Given the description of an element on the screen output the (x, y) to click on. 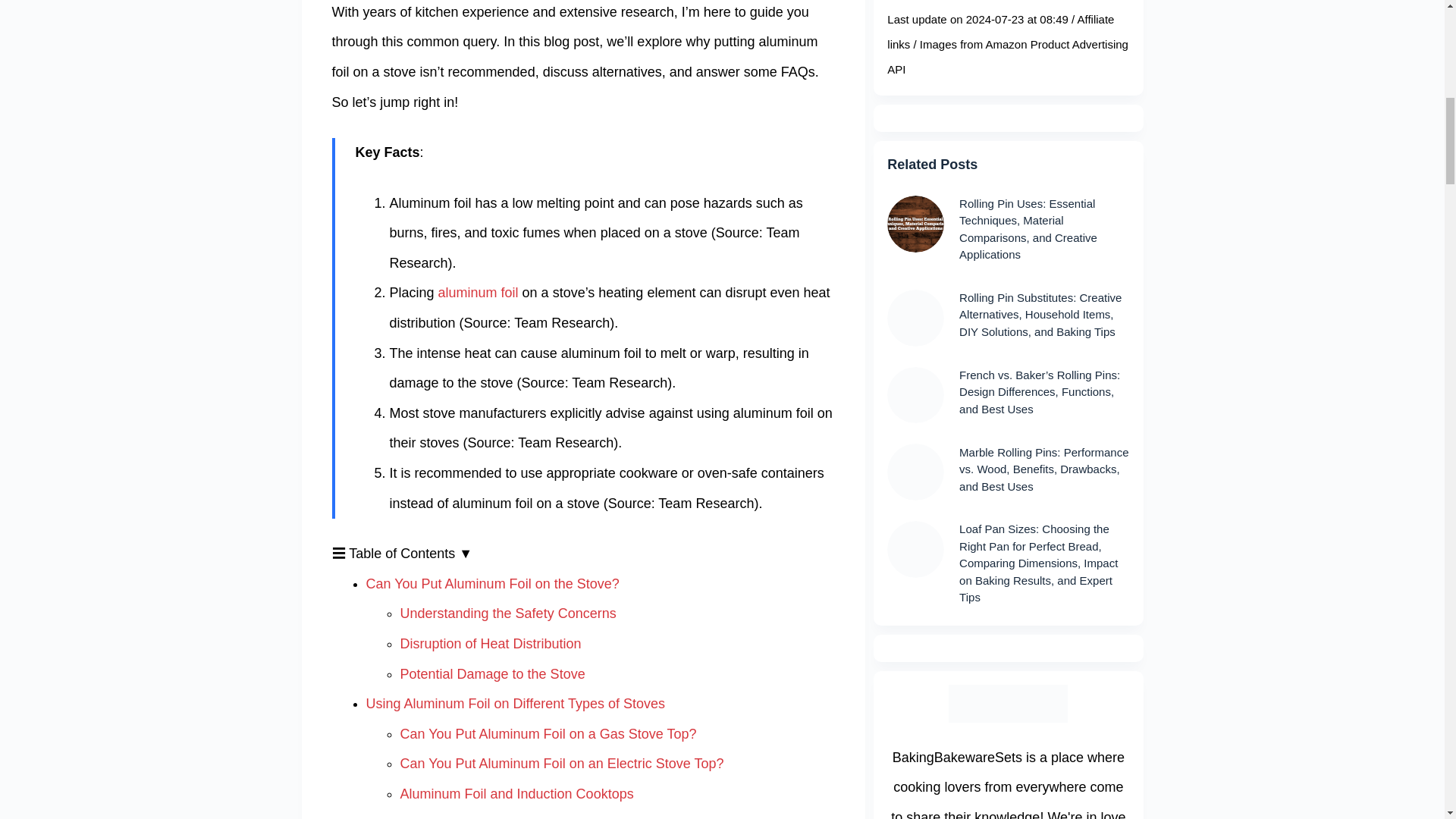
Using Aluminum Foil on Different Types of Stoves (515, 703)
Potential Damage to the Stove (492, 673)
Can You Put Aluminum Foil on an Electric Stove Top? (561, 763)
Disruption of Heat Distribution (490, 643)
Aluminum Foil and Induction Cooktops (516, 793)
Understanding the Safety Concerns (507, 613)
Can You Put Aluminum Foil on the Stove? (491, 583)
aluminum foil (478, 292)
Can You Put Aluminum Foil on a Gas Stove Top? (548, 734)
